Given the description of an element on the screen output the (x, y) to click on. 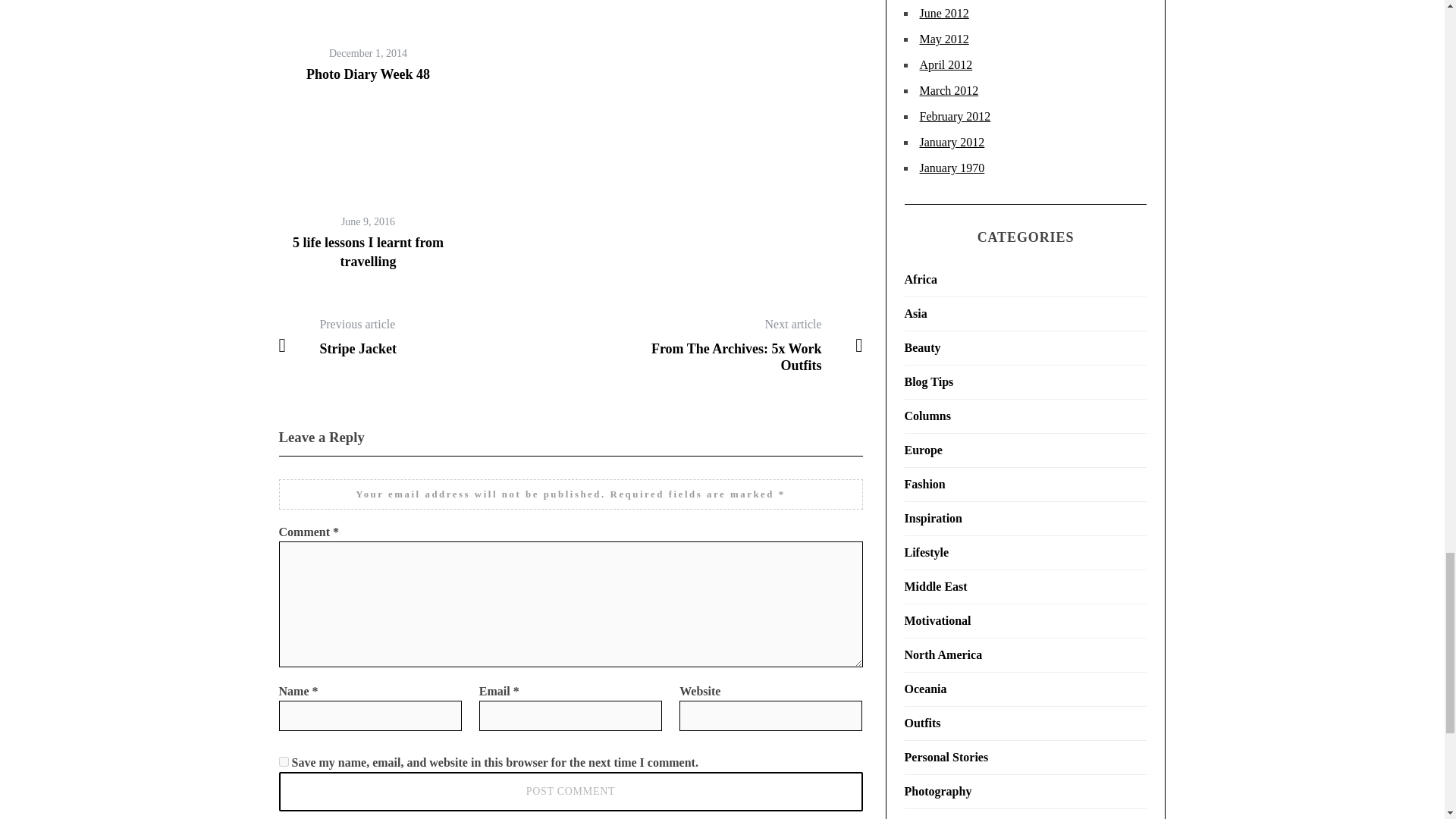
Post Comment (571, 791)
Photo Diary Week 48 (367, 73)
yes (283, 761)
